Given the description of an element on the screen output the (x, y) to click on. 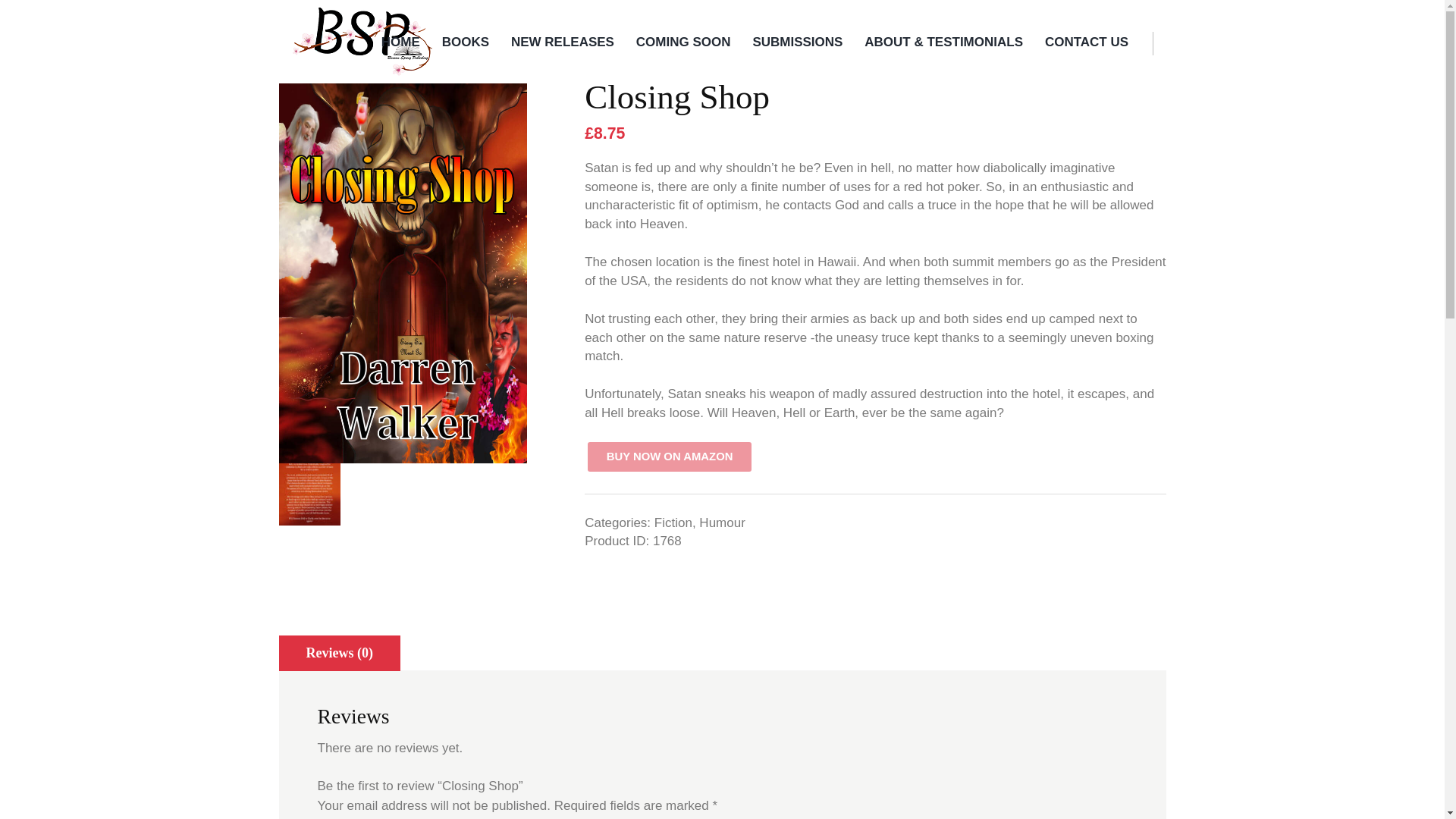
NEW RELEASES (562, 42)
HOME (400, 42)
BUY NOW ON AMAZON (669, 456)
SUBMISSIONS (797, 42)
COMING SOON (683, 42)
Humour (721, 522)
Fiction (673, 522)
BOOKS (465, 42)
CONTACT US (1086, 42)
